Given the description of an element on the screen output the (x, y) to click on. 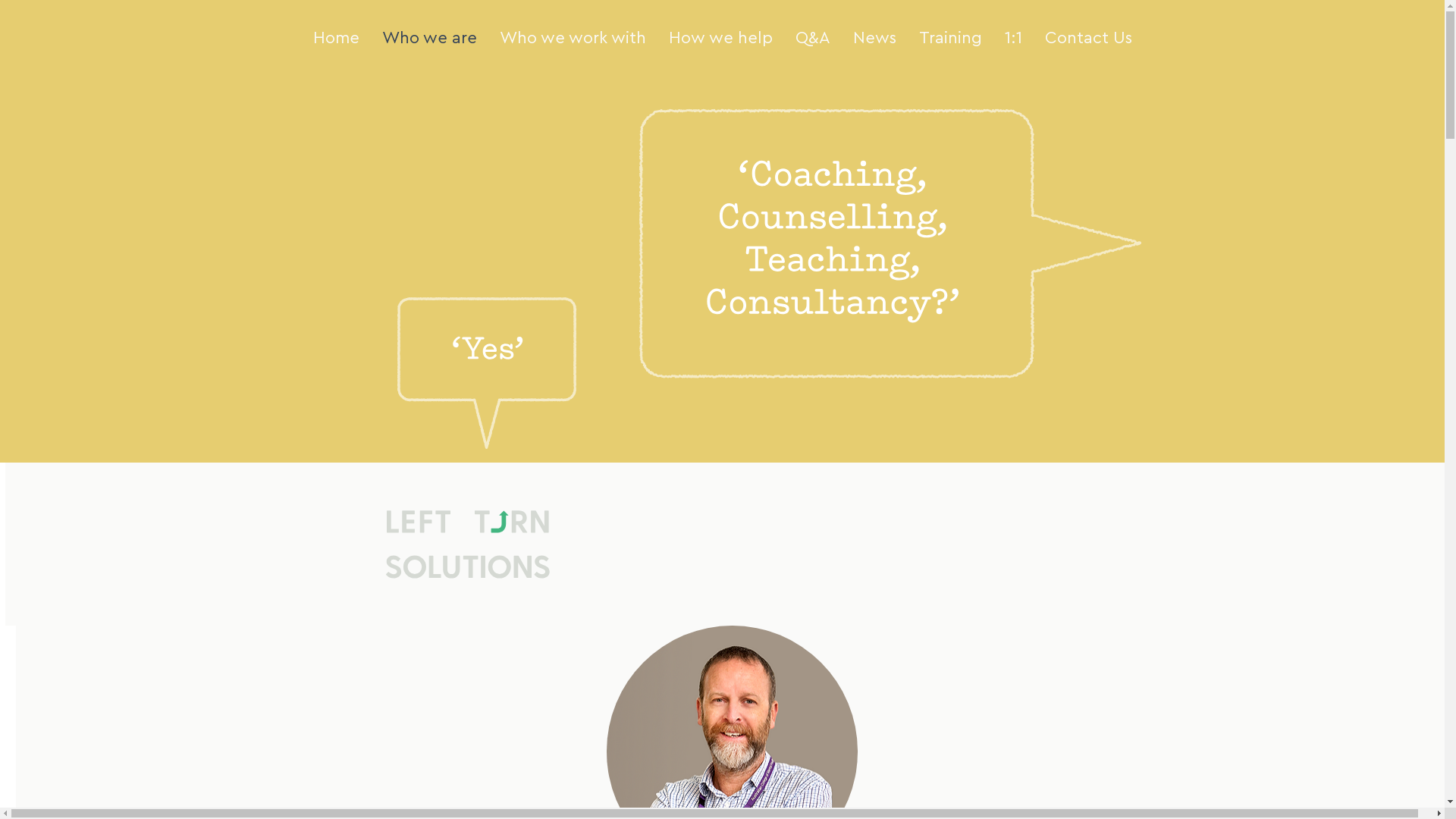
Contact Us Element type: text (1087, 38)
Training Element type: text (949, 38)
Who we work with Element type: text (572, 38)
1:1 Element type: text (1013, 38)
How we help Element type: text (719, 38)
Q&A Element type: text (812, 38)
News Element type: text (874, 38)
Who we are Element type: text (428, 38)
Home Element type: text (335, 38)
